Given the description of an element on the screen output the (x, y) to click on. 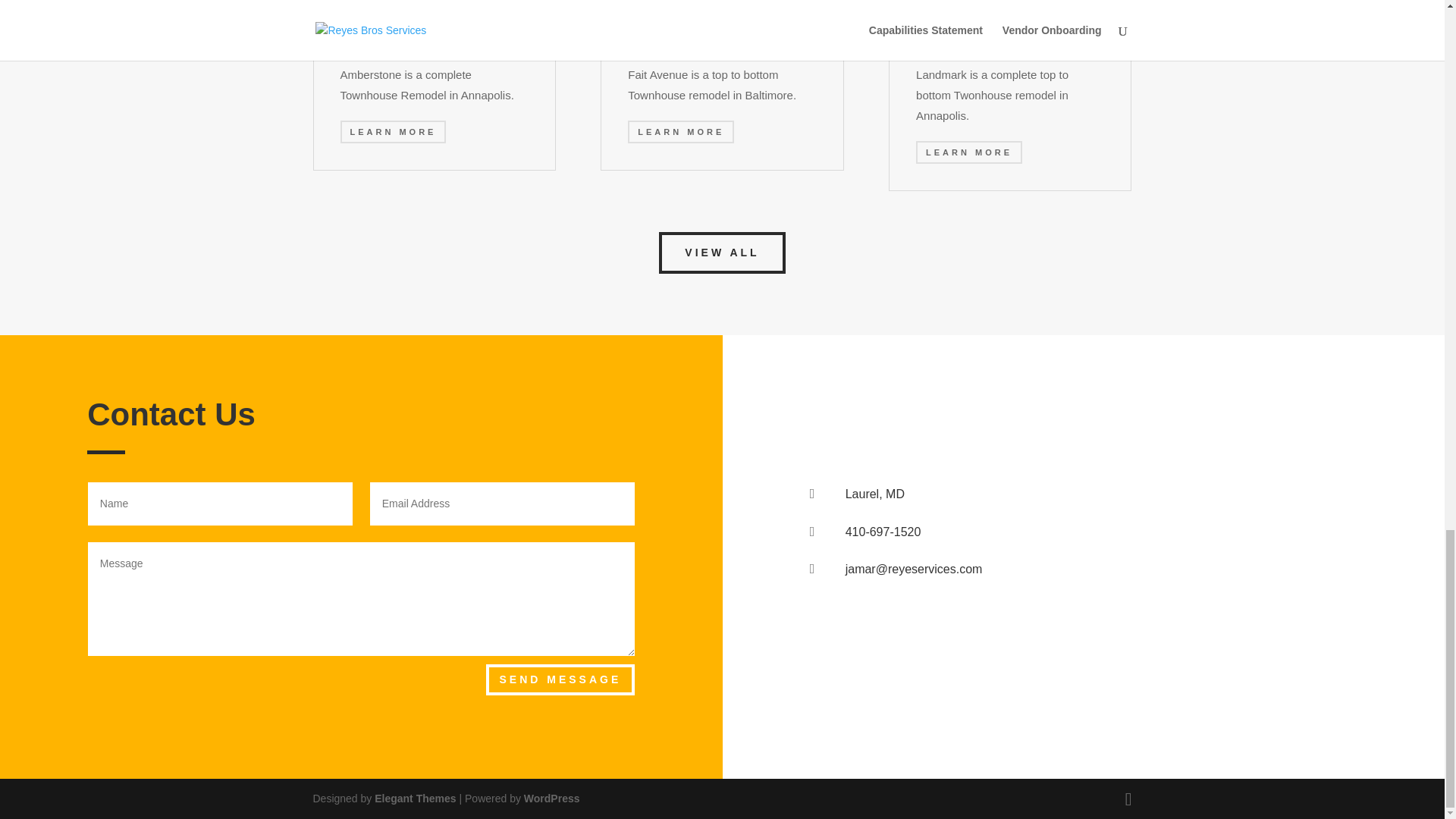
LEARN MORE (968, 151)
LEARN MORE (392, 131)
WordPress (551, 798)
VIEW ALL (721, 252)
Elegant Themes (414, 798)
LEARN MORE (680, 131)
SEND MESSAGE (559, 679)
Premium WordPress Themes (414, 798)
